Given the description of an element on the screen output the (x, y) to click on. 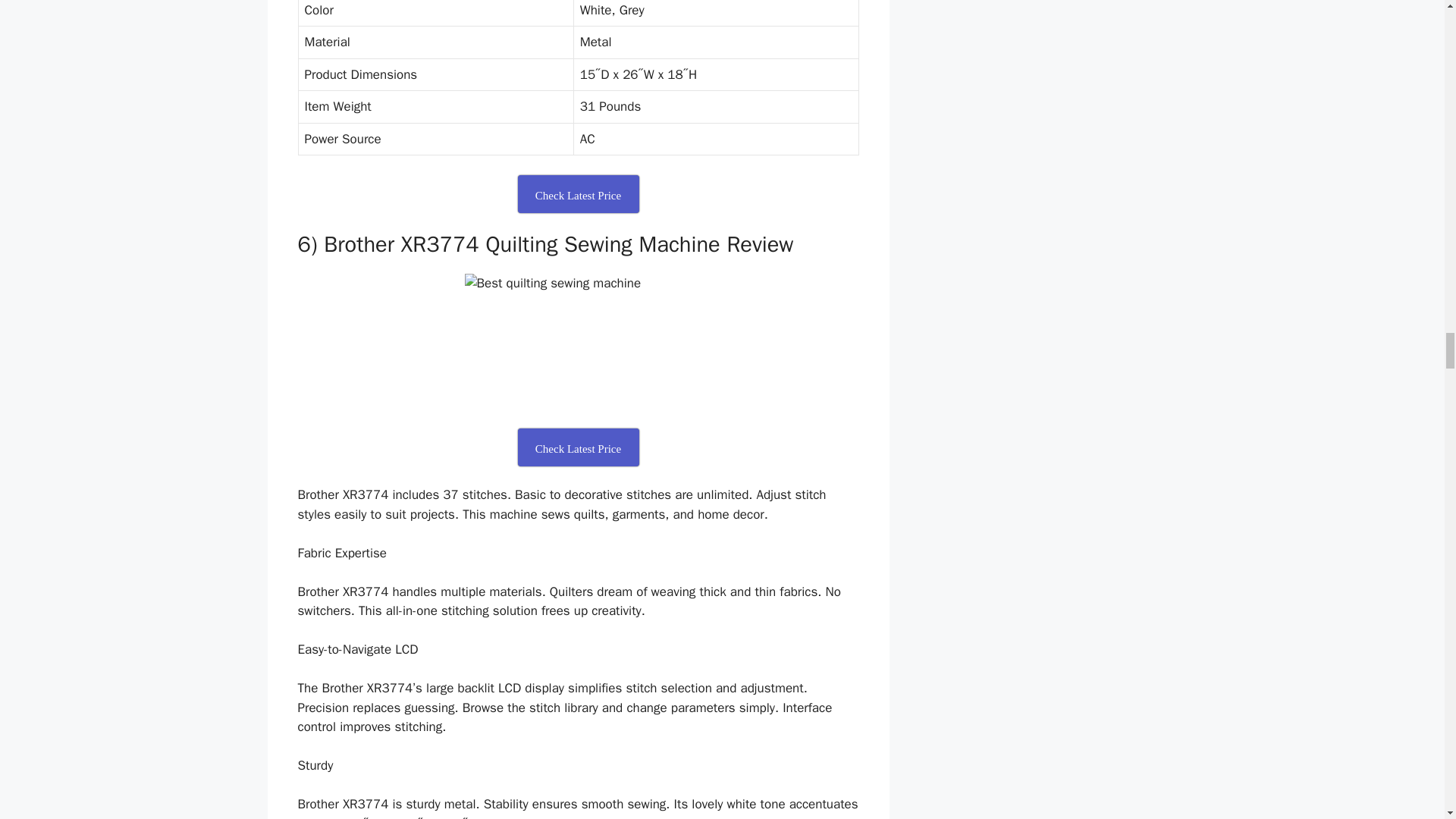
Check Latest Price (577, 447)
Check Latest Price (577, 193)
